Given the description of an element on the screen output the (x, y) to click on. 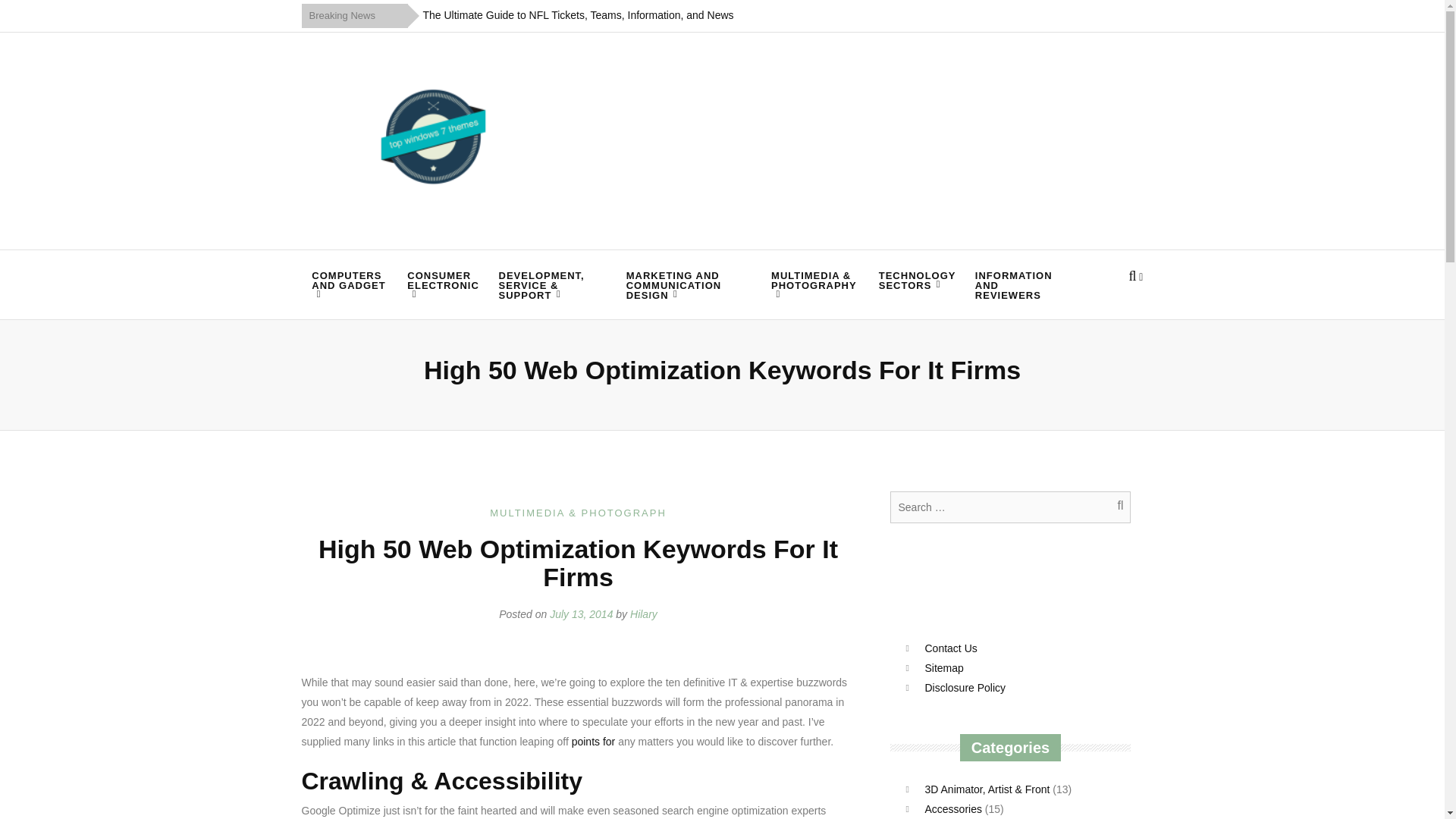
Search (1112, 506)
Computers and Gadget (349, 284)
Consumer Electronic (443, 284)
COMPUTERS AND GADGET (349, 284)
Search (1112, 506)
CONSUMER ELECTRONIC (443, 284)
